Given the description of an element on the screen output the (x, y) to click on. 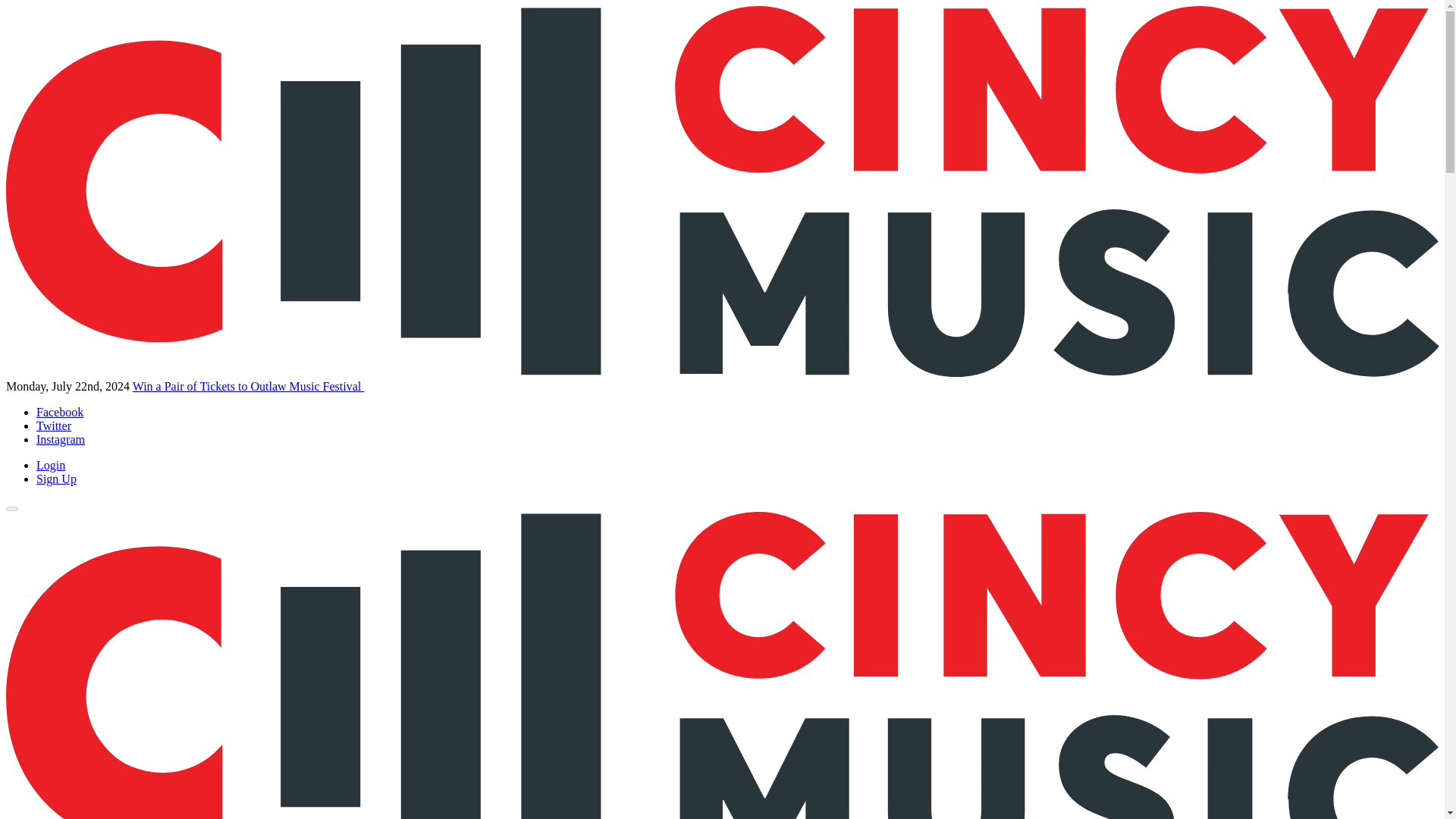
Win a Pair of Tickets to Outlaw Music Festival  (248, 386)
Login (50, 464)
Twitter (53, 425)
Facebook (59, 411)
Instagram (60, 439)
Sign Up (56, 478)
